Given the description of an element on the screen output the (x, y) to click on. 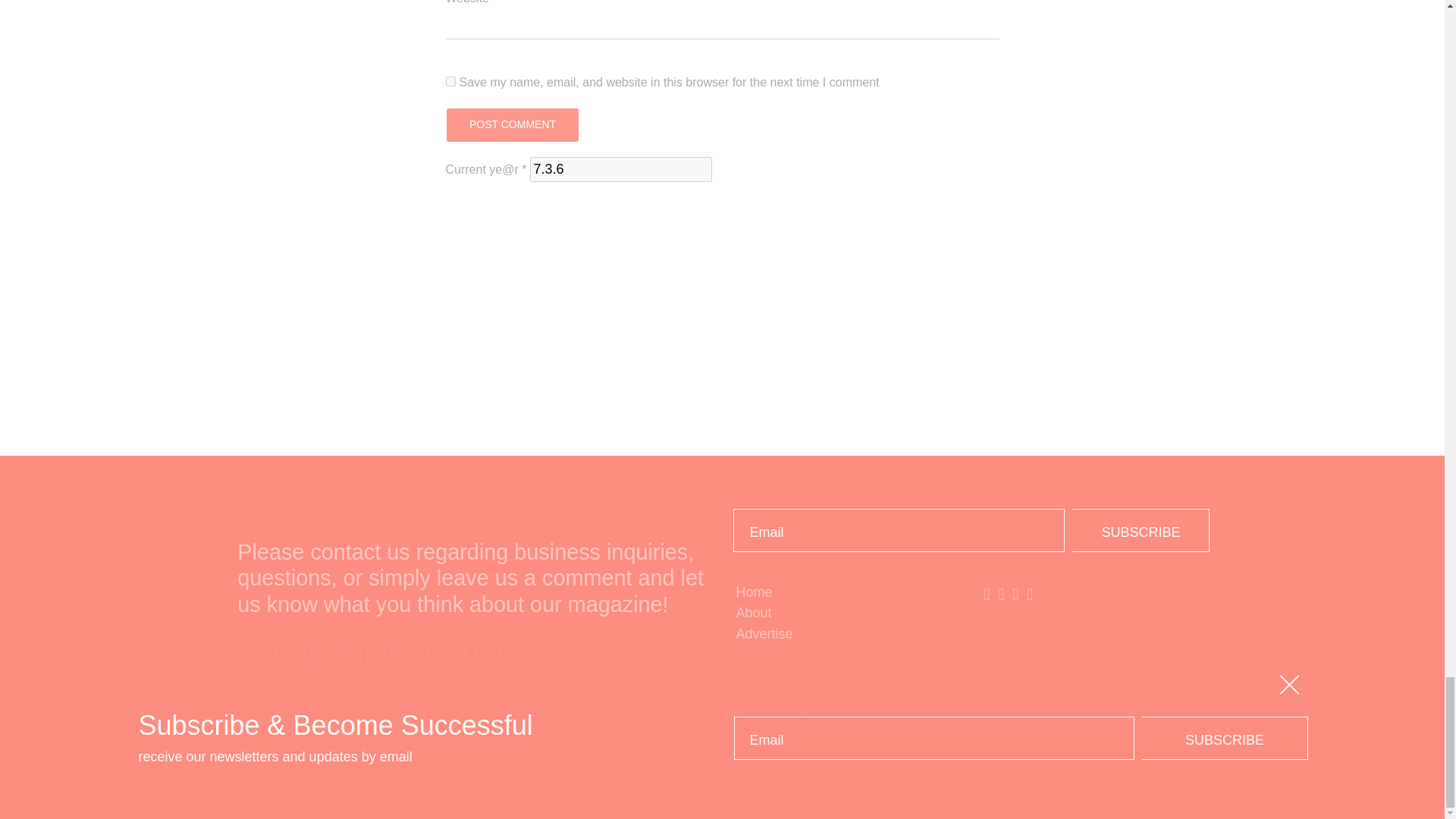
Contact (845, 654)
Post Comment (511, 124)
Advertise (845, 634)
Subscribe (1140, 530)
Copyright Notice (845, 697)
Home (845, 592)
7.3.6 (620, 169)
yes (450, 81)
Donate (845, 676)
About (845, 613)
